Given the description of an element on the screen output the (x, y) to click on. 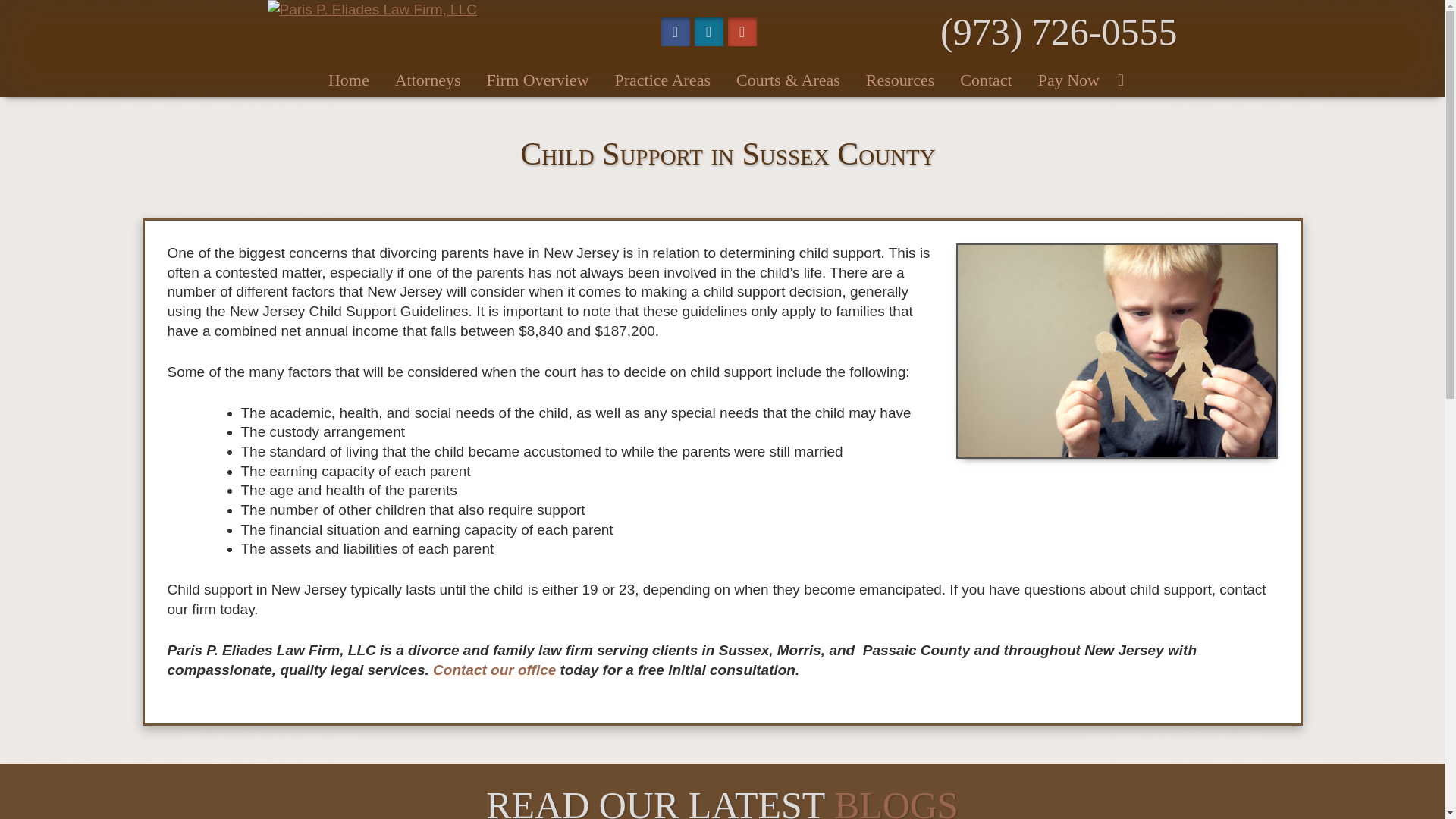
Practice Areas (662, 80)
Attorneys (427, 80)
Firm Overview (537, 80)
Home (348, 80)
